Given the description of an element on the screen output the (x, y) to click on. 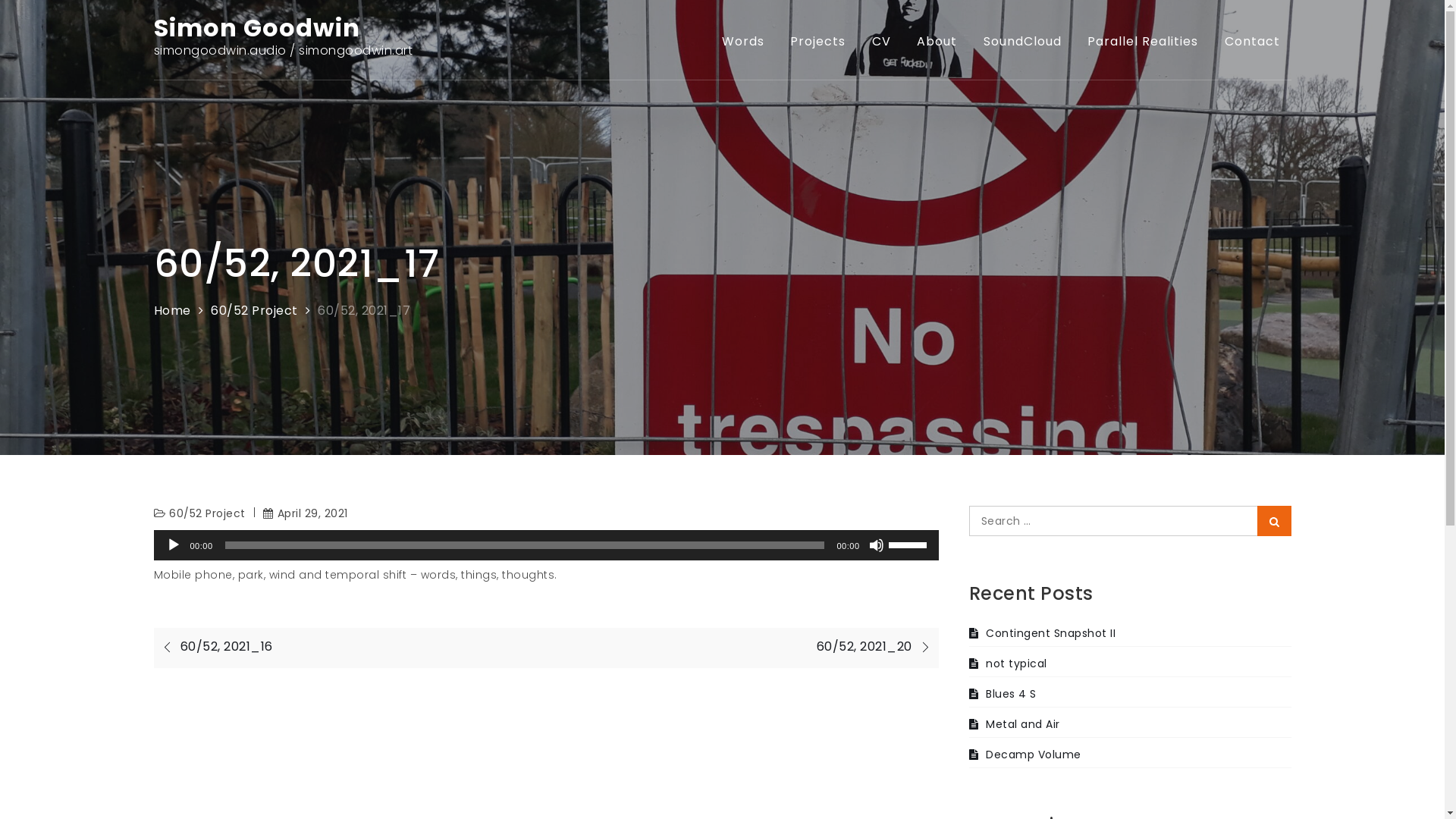
April 29, 2021 Element type: text (305, 513)
Blues 4 S Element type: text (1002, 693)
Words Element type: text (742, 41)
Simon Goodwin Element type: text (256, 27)
60/52, 2021_20 Element type: text (876, 646)
Mute Element type: hover (876, 544)
60/52 Project Element type: text (207, 512)
SoundCloud Element type: text (1022, 41)
Decamp Volume Element type: text (1025, 754)
60/52 Project Element type: text (254, 310)
About Element type: text (936, 41)
not typical Element type: text (1008, 663)
Home Element type: text (171, 310)
Search Element type: text (1274, 520)
CV Element type: text (880, 41)
60/52, 2021_16 Element type: text (212, 646)
Contingent Snapshot II Element type: text (1042, 632)
Metal and Air Element type: text (1014, 723)
Contact Element type: text (1252, 41)
Use Up/Down Arrow keys to increase or decrease volume. Element type: text (909, 543)
Parallel Realities Element type: text (1142, 41)
Projects Element type: text (817, 41)
Play Element type: hover (172, 544)
